Given the description of an element on the screen output the (x, y) to click on. 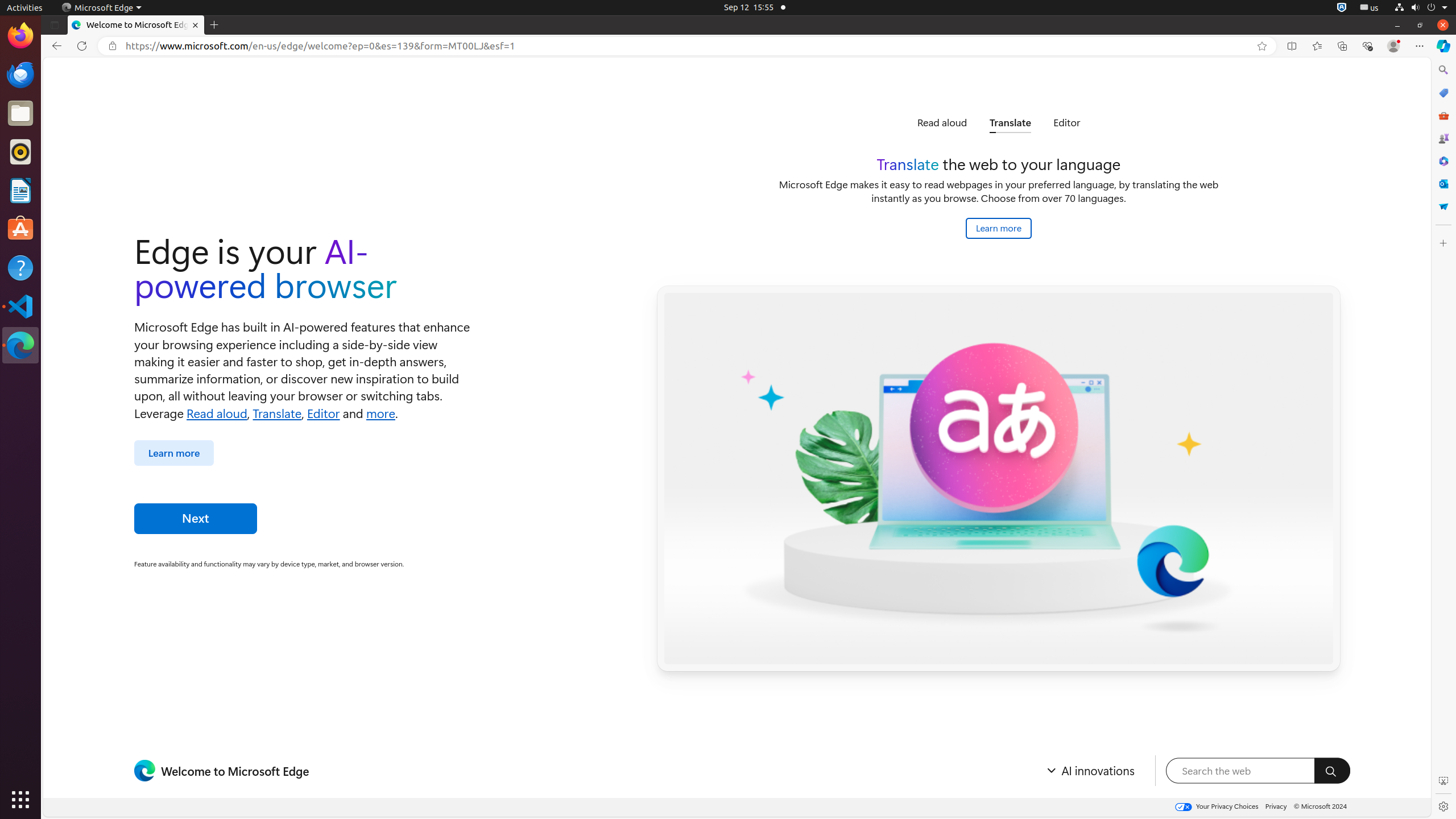
Search Element type: push-button (1332, 770)
California Consumer Privacy Act (CCPA) Opt-Out Icon Your Privacy Choices Element type: link (1215, 806)
Games Element type: push-button (1443, 137)
Learn more Element type: link (174, 452)
Microsoft 365 Element type: push-button (1443, 160)
